Given the description of an element on the screen output the (x, y) to click on. 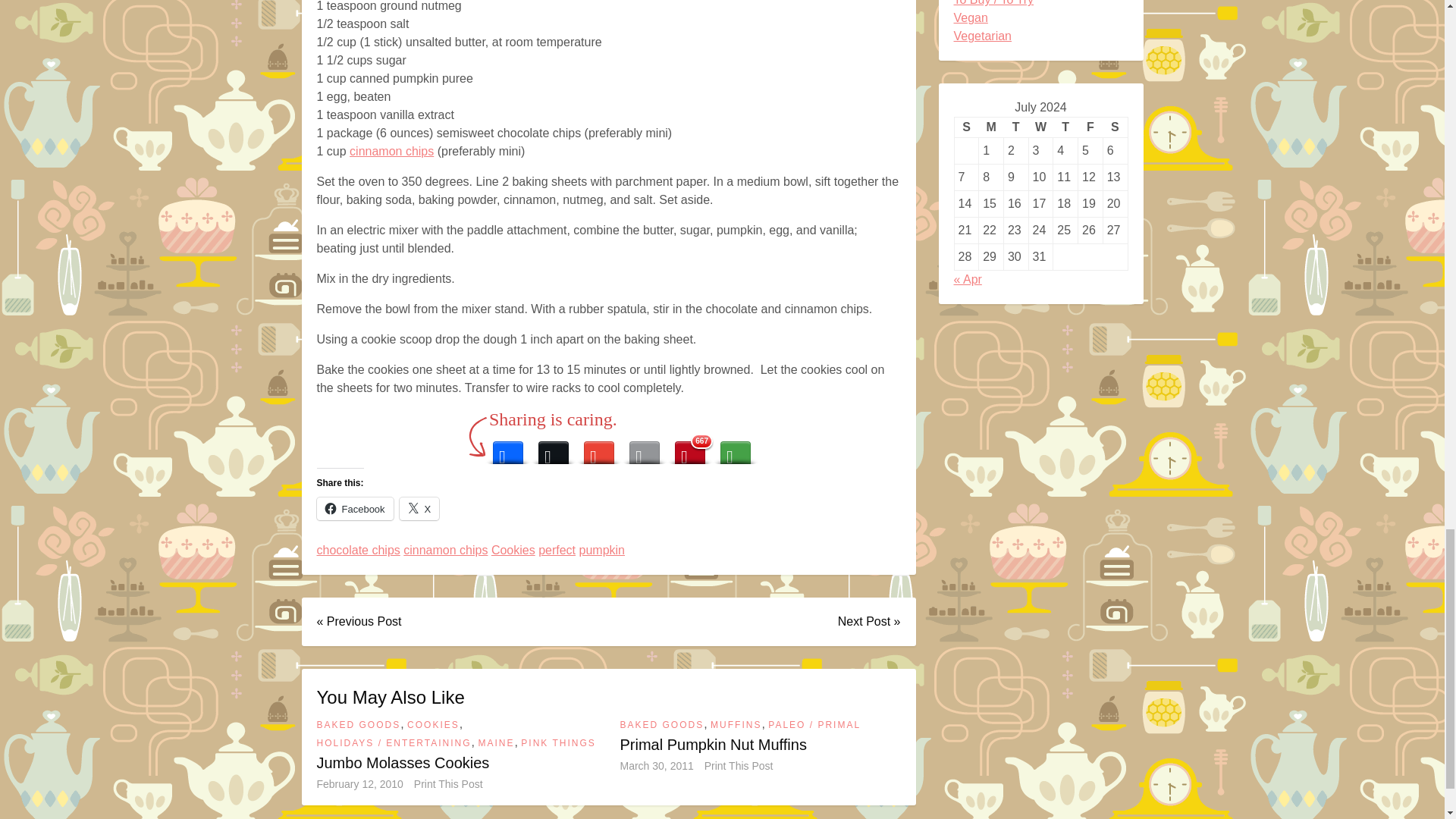
Pinterest (689, 448)
Google Gmail (598, 448)
Print This Post (448, 784)
perfect (556, 550)
MUFFINS (735, 725)
Email This (643, 448)
COOKIES (433, 725)
Sunday (965, 127)
cinnamon chips (391, 151)
MAINE (495, 743)
Print This Post (448, 784)
Click to share on Facebook (355, 508)
February 12, 2010 (360, 784)
BAKED GOODS (662, 725)
March 30, 2011 (657, 766)
